Given the description of an element on the screen output the (x, y) to click on. 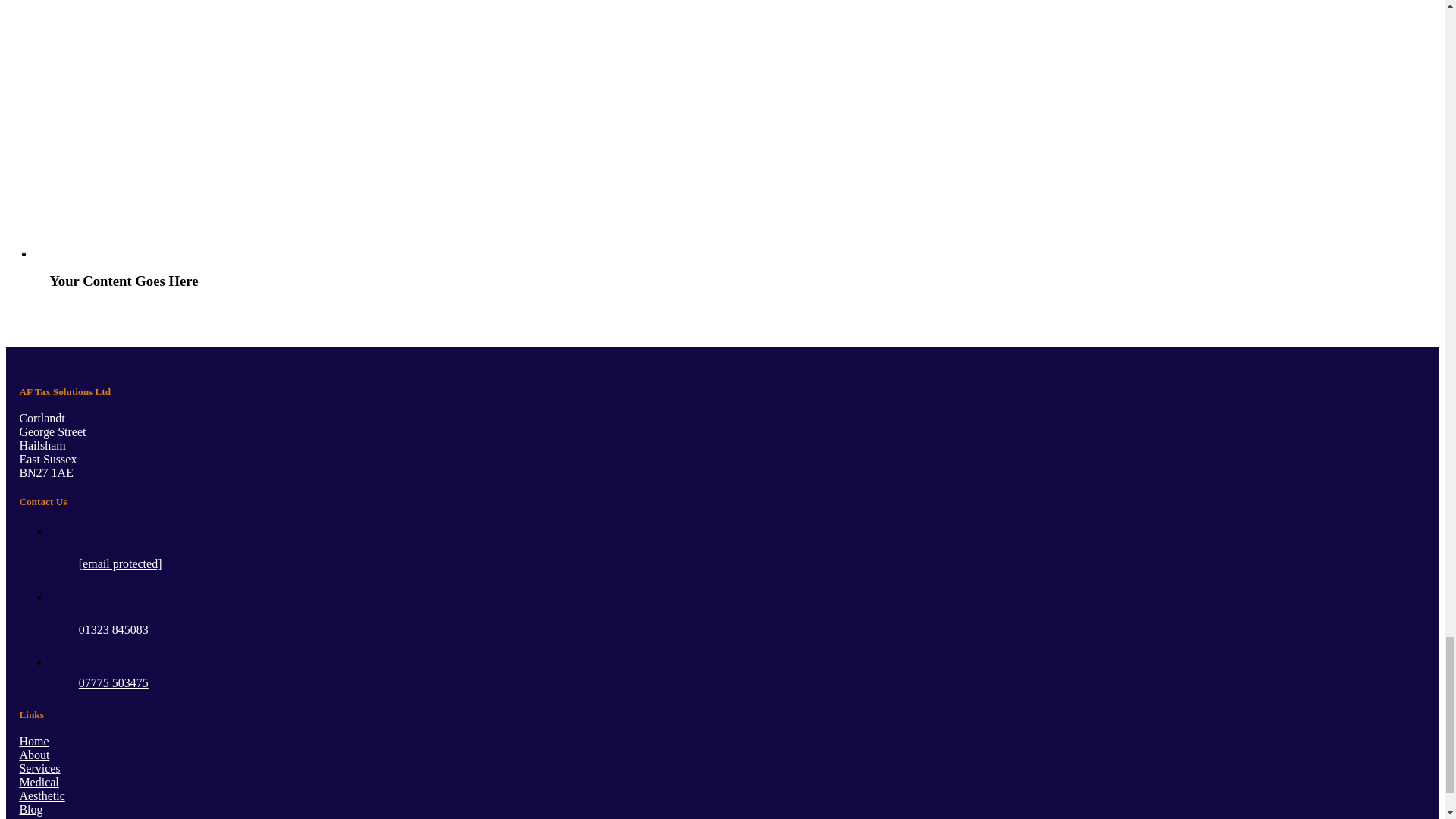
About (33, 754)
Contact (37, 817)
Medical (38, 781)
Aesthetic (41, 795)
Home (33, 740)
Blog (30, 809)
Services (38, 768)
07775 503475 (113, 682)
01323 845083 (113, 629)
